Given the description of an element on the screen output the (x, y) to click on. 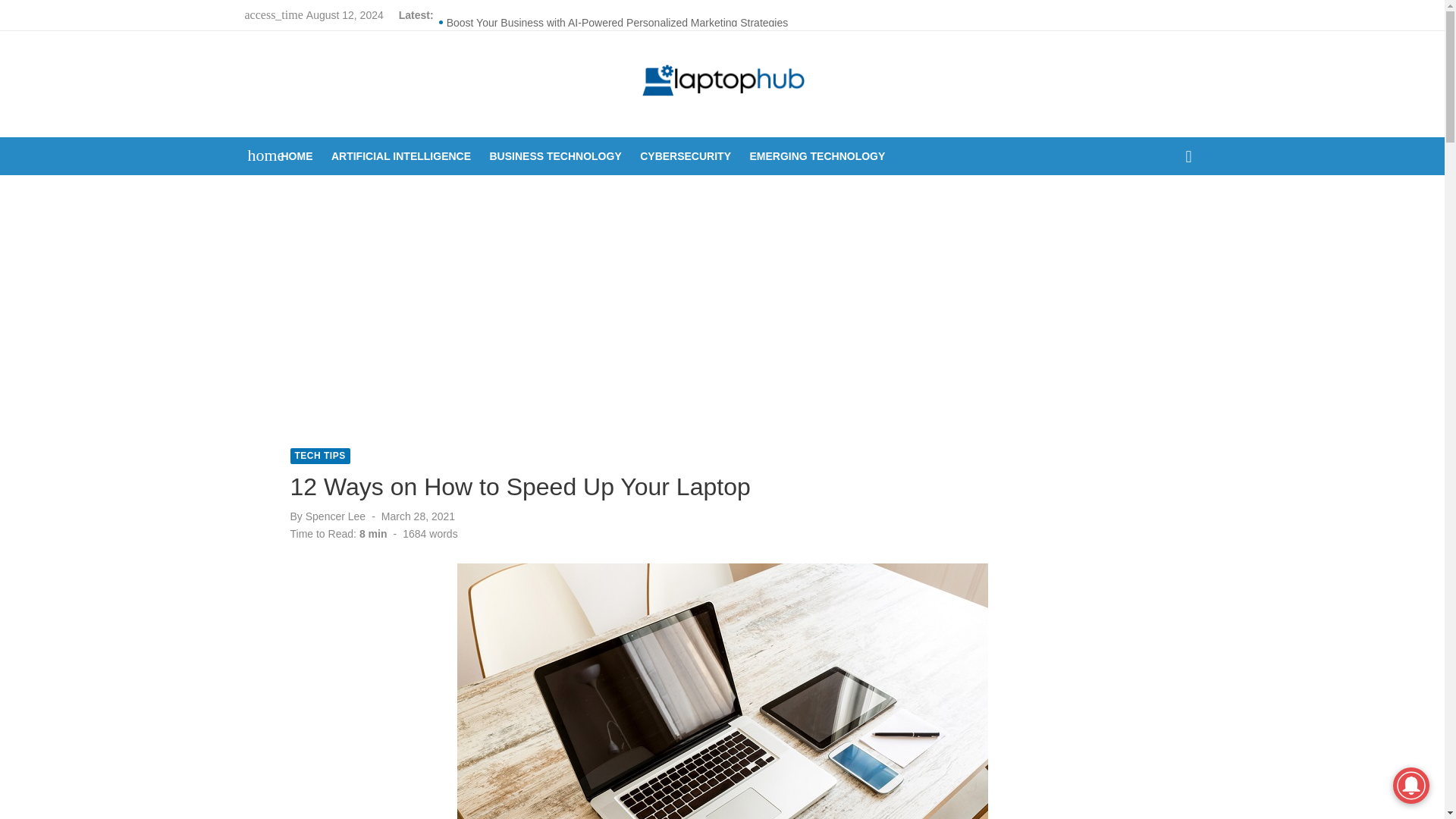
ARTIFICIAL INTELLIGENCE (401, 156)
March 28, 2021 (417, 516)
TECH TIPS (319, 455)
HOME (296, 156)
BUSINESS TECHNOLOGY (555, 156)
home (258, 154)
EMERGING TECHNOLOGY (816, 156)
